Given the description of an element on the screen output the (x, y) to click on. 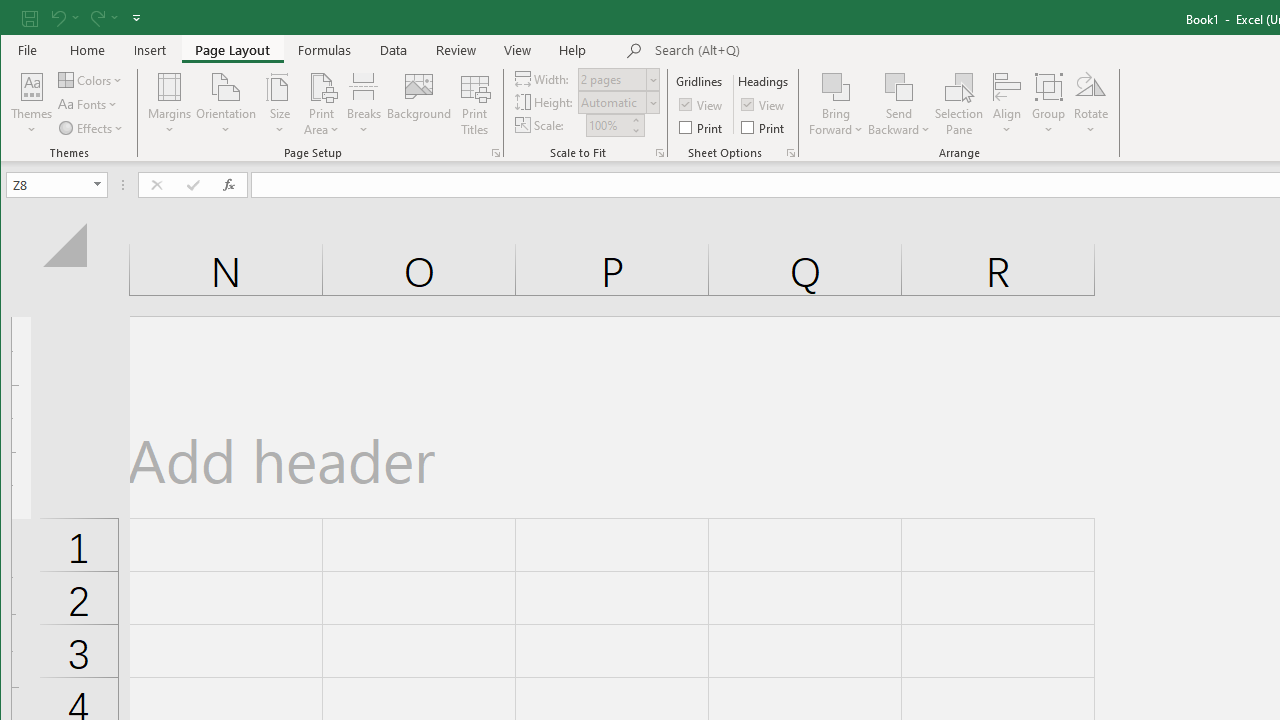
Height (619, 101)
Colors (92, 80)
Scale (607, 125)
Page Setup (659, 152)
Themes (31, 104)
Print (764, 126)
Selection Pane... (959, 104)
